Given the description of an element on the screen output the (x, y) to click on. 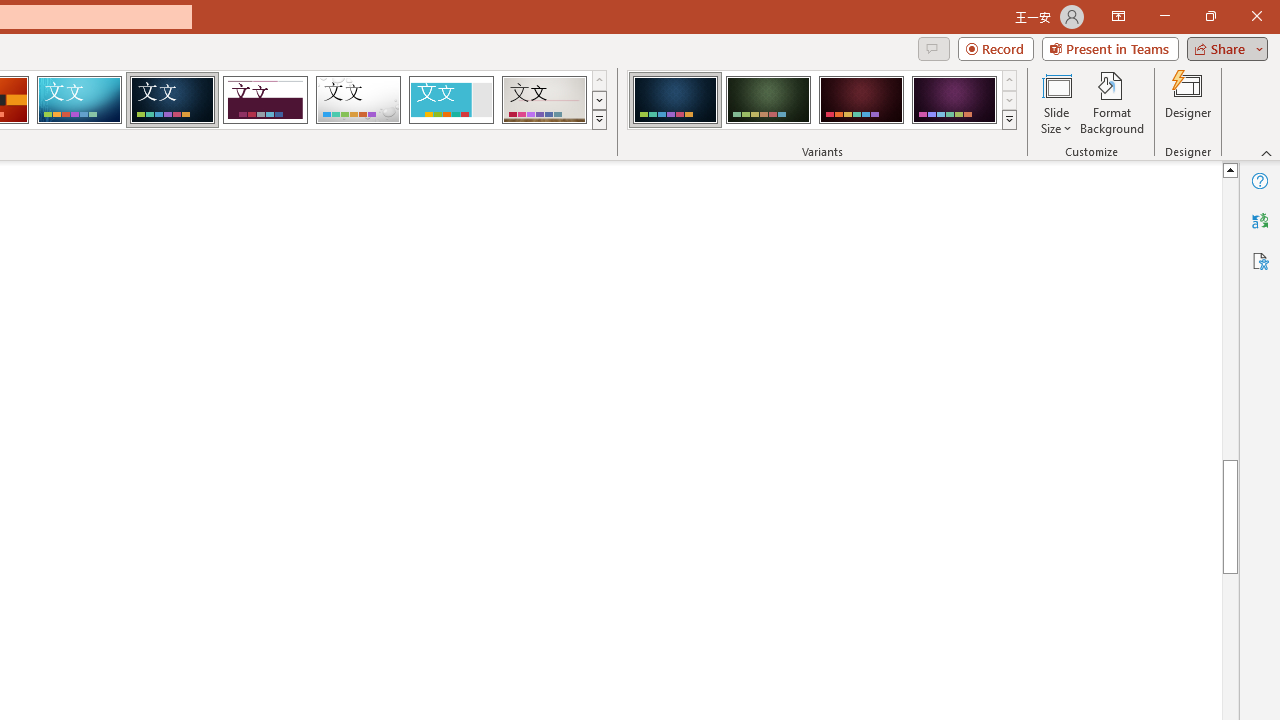
Circuit (79, 100)
Damask Variant 2 (768, 100)
Damask Variant 1 (674, 100)
Droplet (358, 100)
Dividend (265, 100)
